Given the description of an element on the screen output the (x, y) to click on. 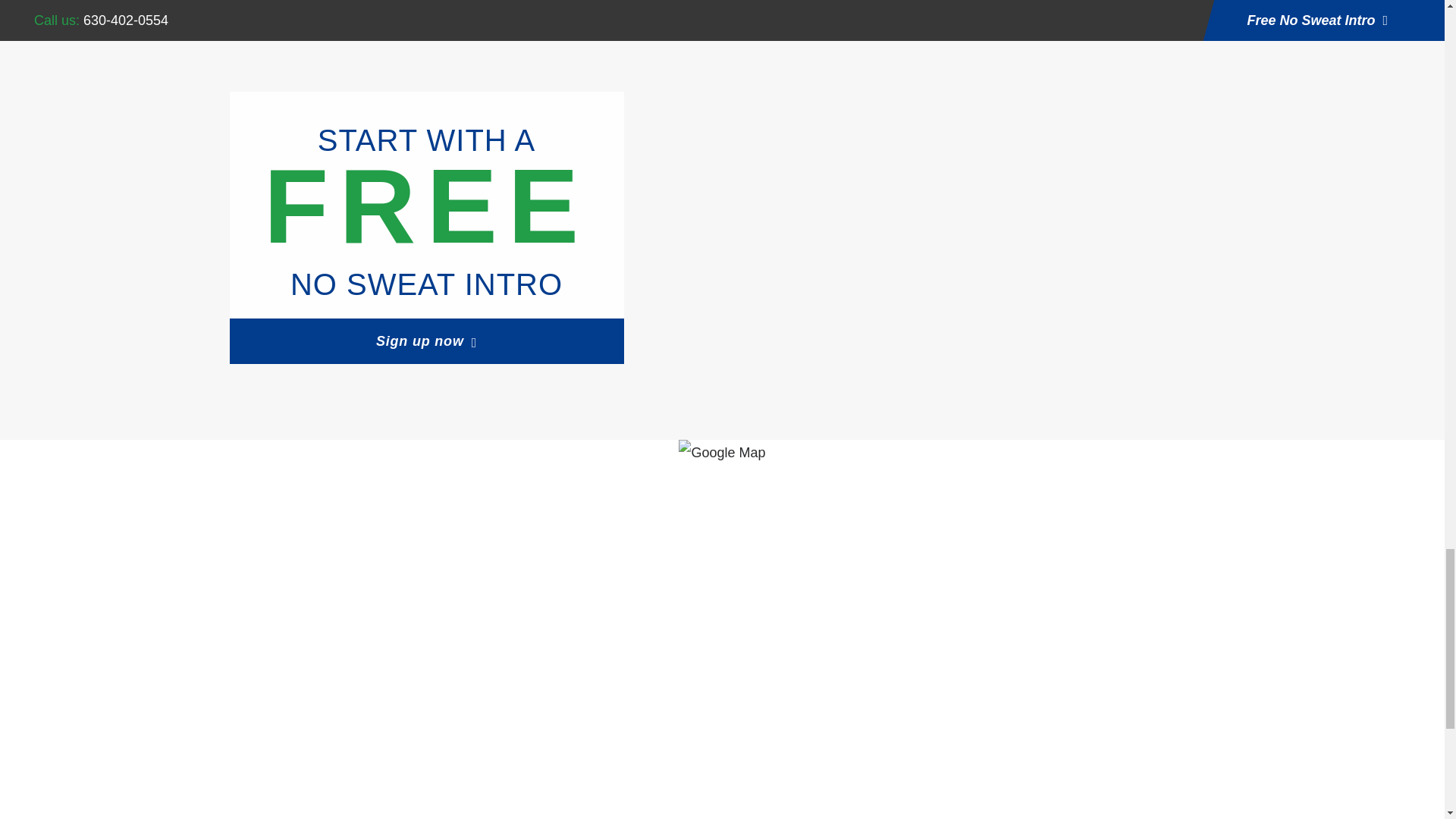
Sign up now (425, 340)
